Given the description of an element on the screen output the (x, y) to click on. 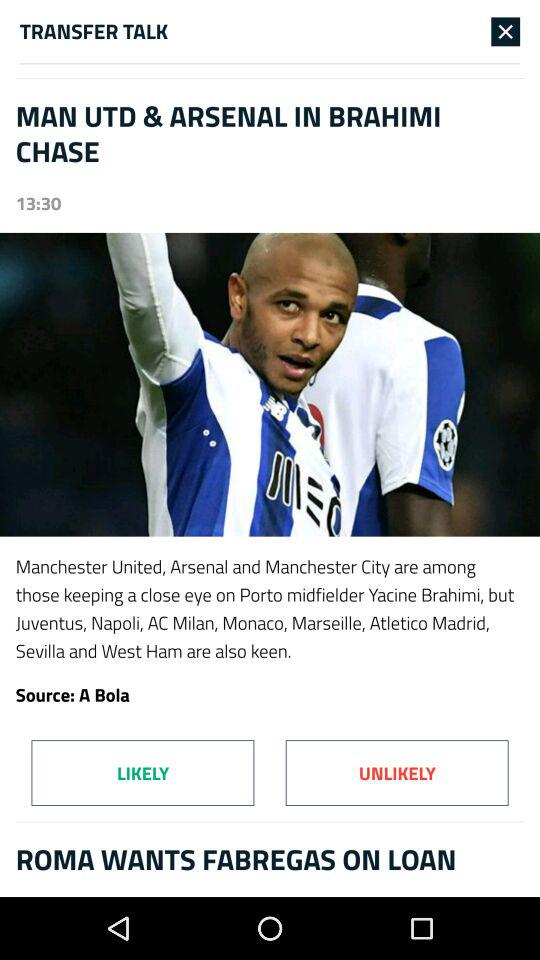
scroll until likely (142, 772)
